Given the description of an element on the screen output the (x, y) to click on. 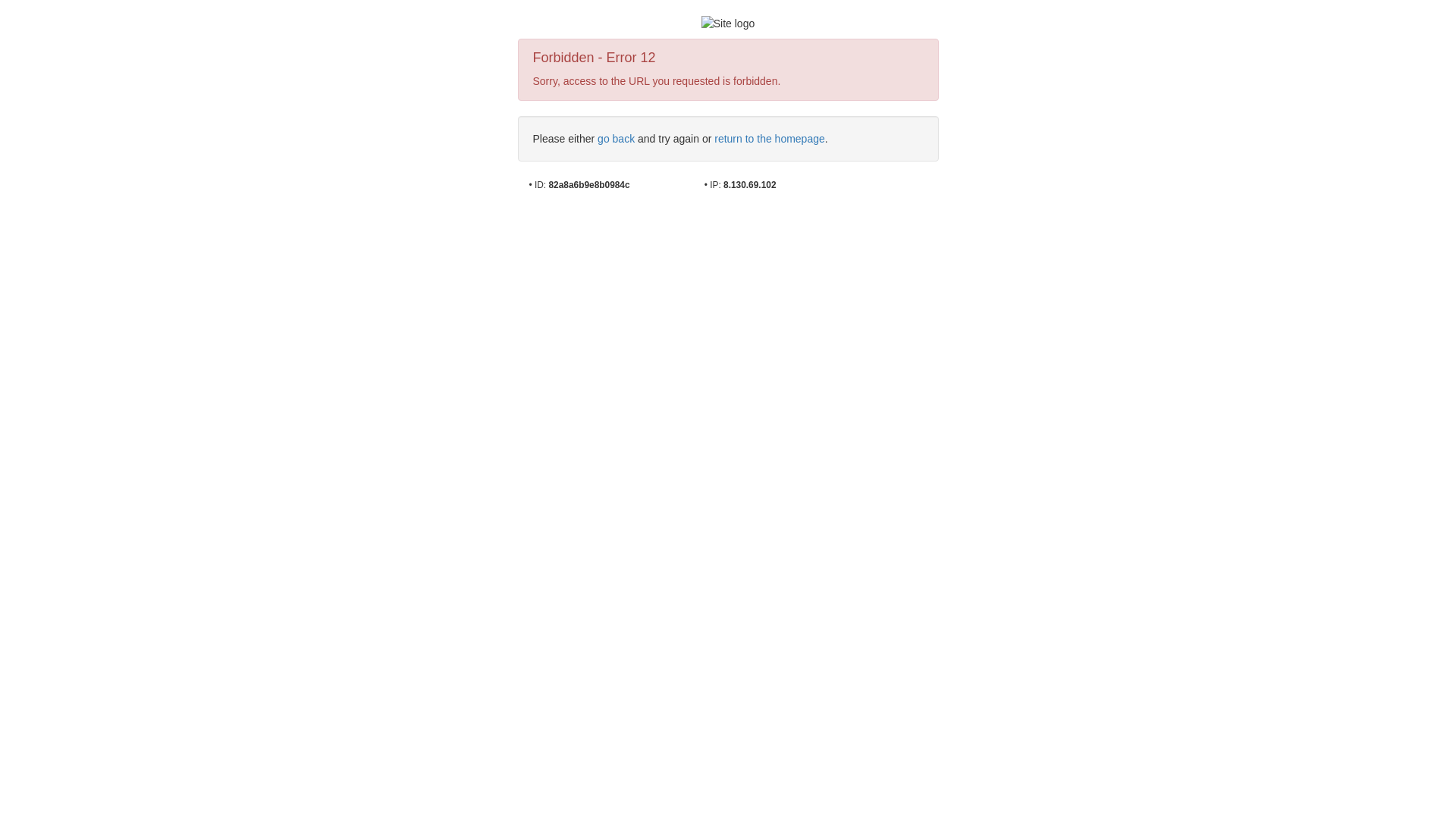
go back Element type: text (615, 138)
return to the homepage Element type: text (769, 138)
